Given the description of an element on the screen output the (x, y) to click on. 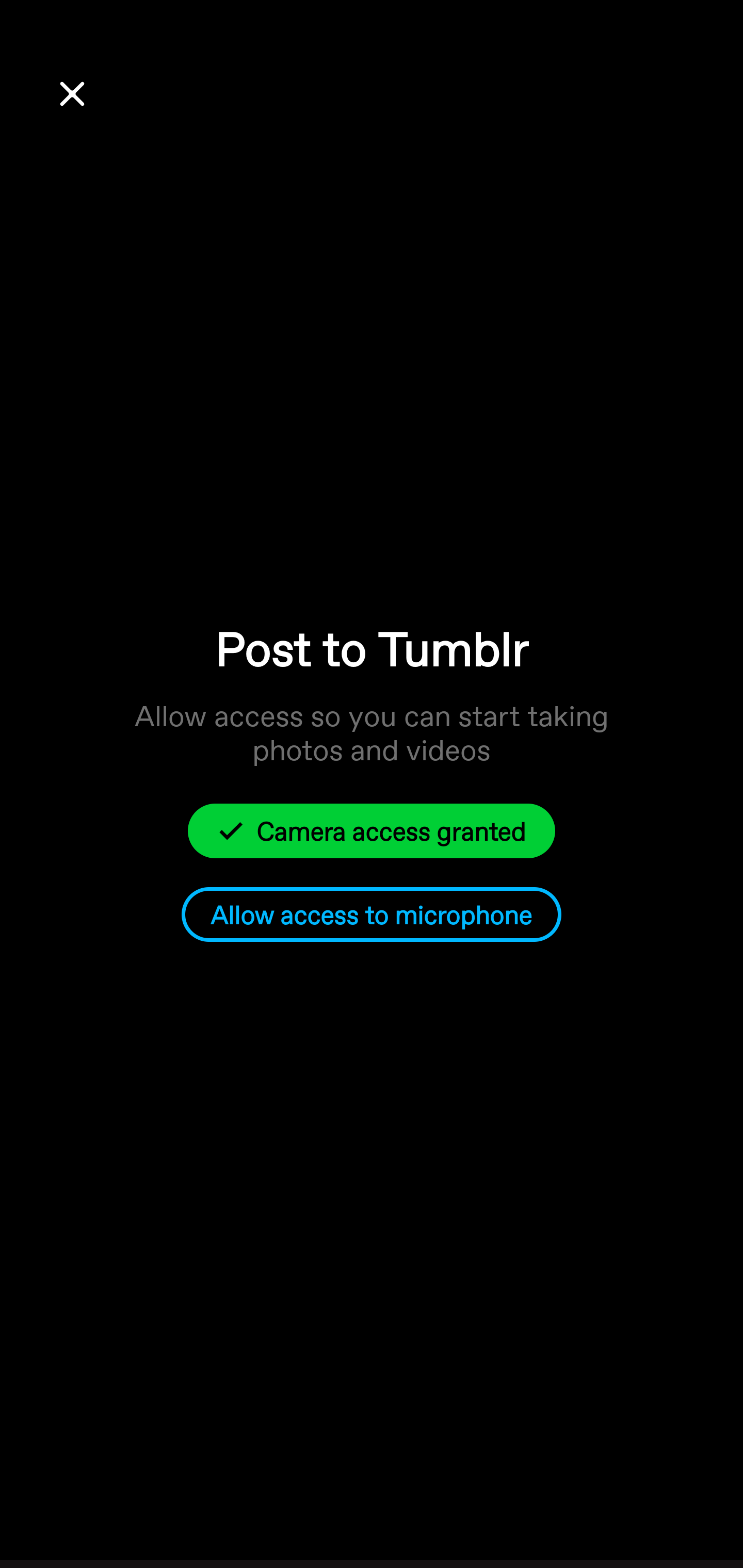
Camera access granted (371, 829)
Allow access to microphone (371, 914)
